Given the description of an element on the screen output the (x, y) to click on. 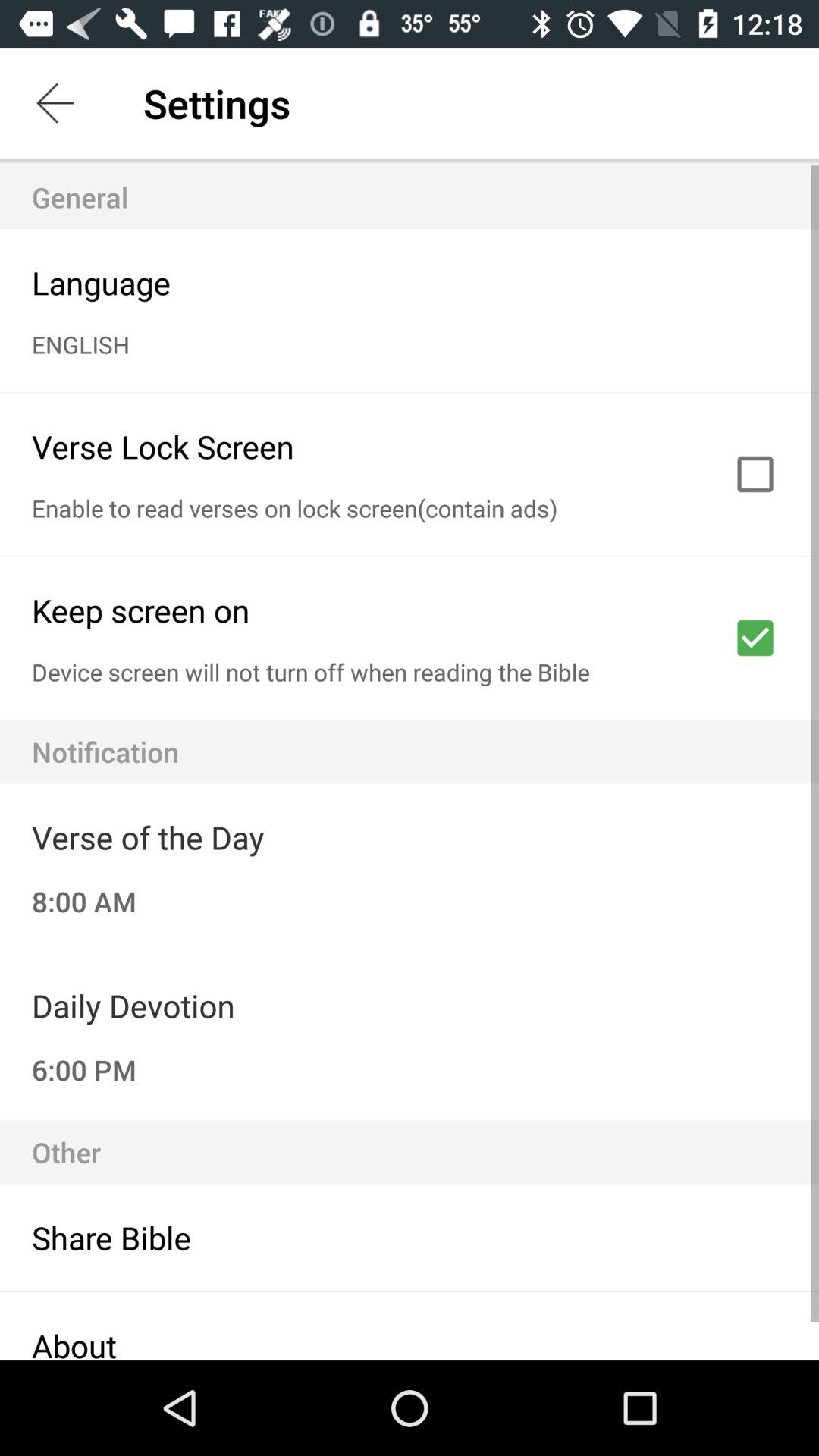
toggle screen on (755, 637)
